Given the description of an element on the screen output the (x, y) to click on. 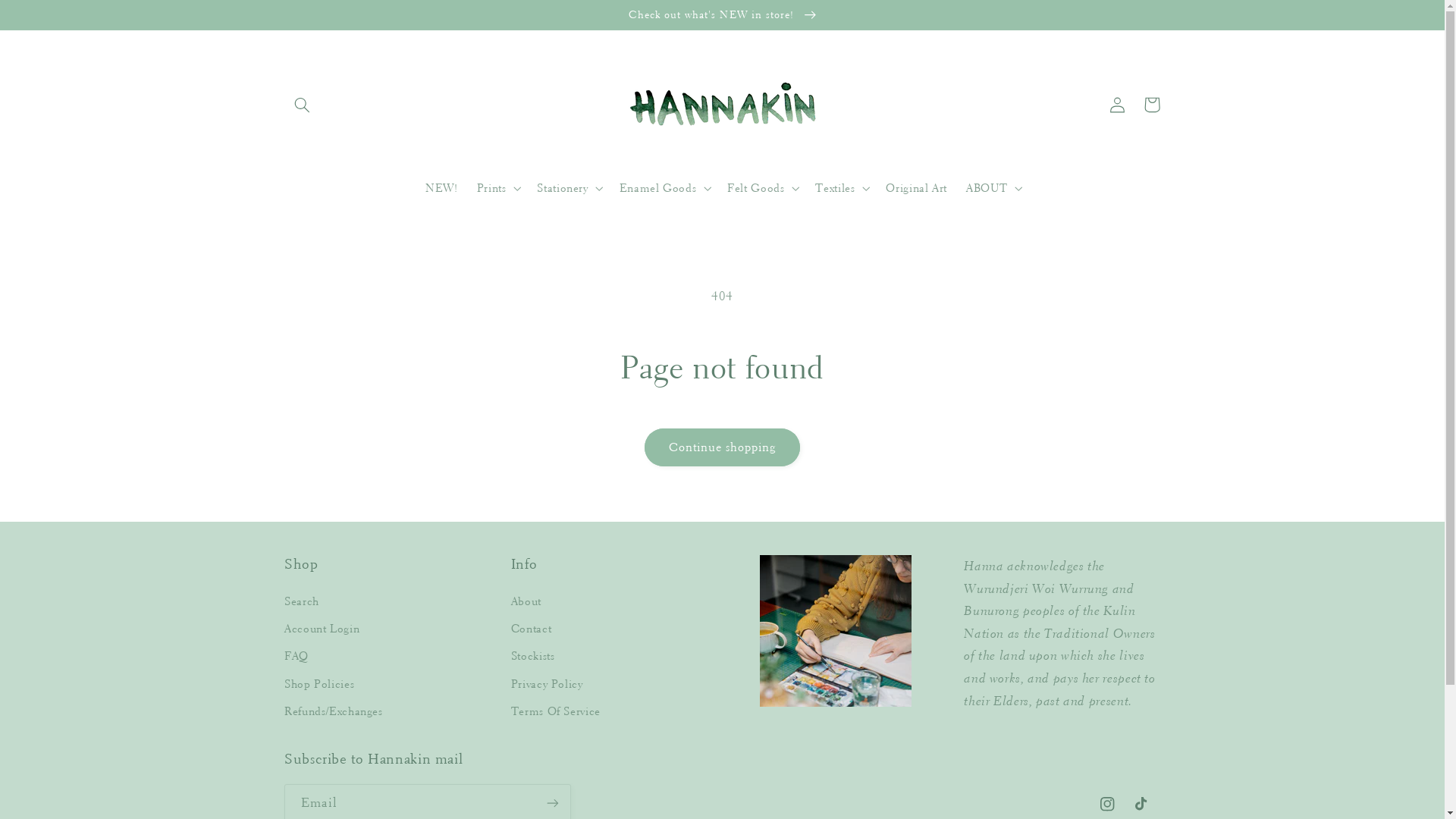
Check out what's NEW in store! Element type: text (722, 14)
Search Element type: text (301, 603)
Shop Policies Element type: text (319, 684)
Continue shopping Element type: text (722, 446)
About Element type: text (526, 603)
Cart Element type: text (1151, 104)
Privacy Policy Element type: text (547, 684)
Stockists Element type: text (533, 656)
NEW! Element type: text (441, 188)
Log in Element type: text (1116, 104)
FAQ Element type: text (296, 656)
Original Art Element type: text (916, 188)
Terms Of Service Element type: text (555, 711)
Contact Element type: text (531, 629)
Account Login Element type: text (321, 629)
Refunds/Exchanges Element type: text (333, 711)
